Given the description of an element on the screen output the (x, y) to click on. 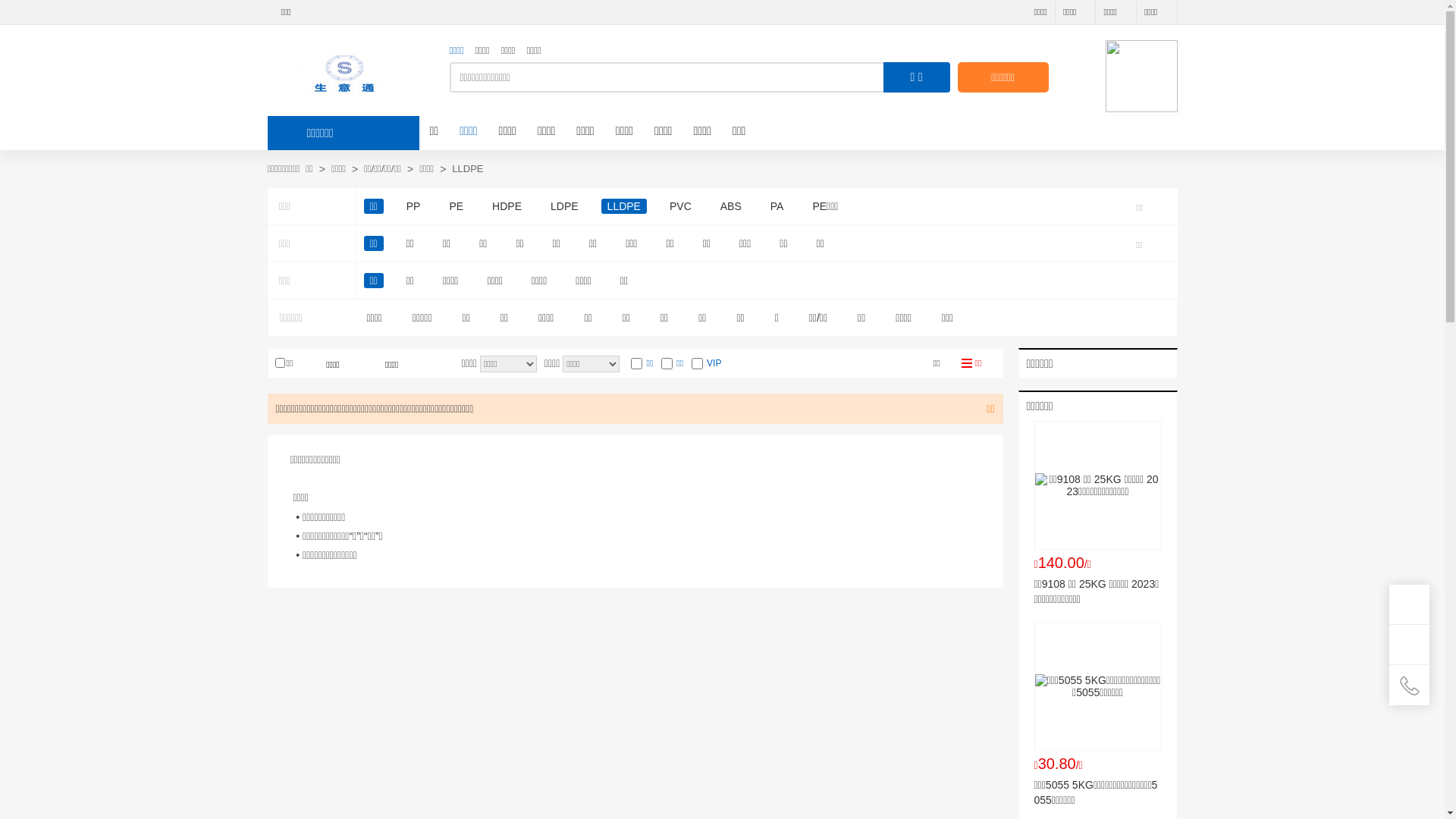
on Element type: text (696, 363)
PE Element type: text (455, 205)
LLDPE Element type: text (623, 205)
HDPE Element type: text (506, 205)
LDPE Element type: text (564, 205)
PA Element type: text (777, 205)
on Element type: text (279, 362)
ABS Element type: text (730, 205)
LLDPE Element type: text (467, 169)
PP Element type: text (413, 205)
on Element type: text (666, 363)
PVC Element type: text (680, 205)
on Element type: text (636, 363)
